Given the description of an element on the screen output the (x, y) to click on. 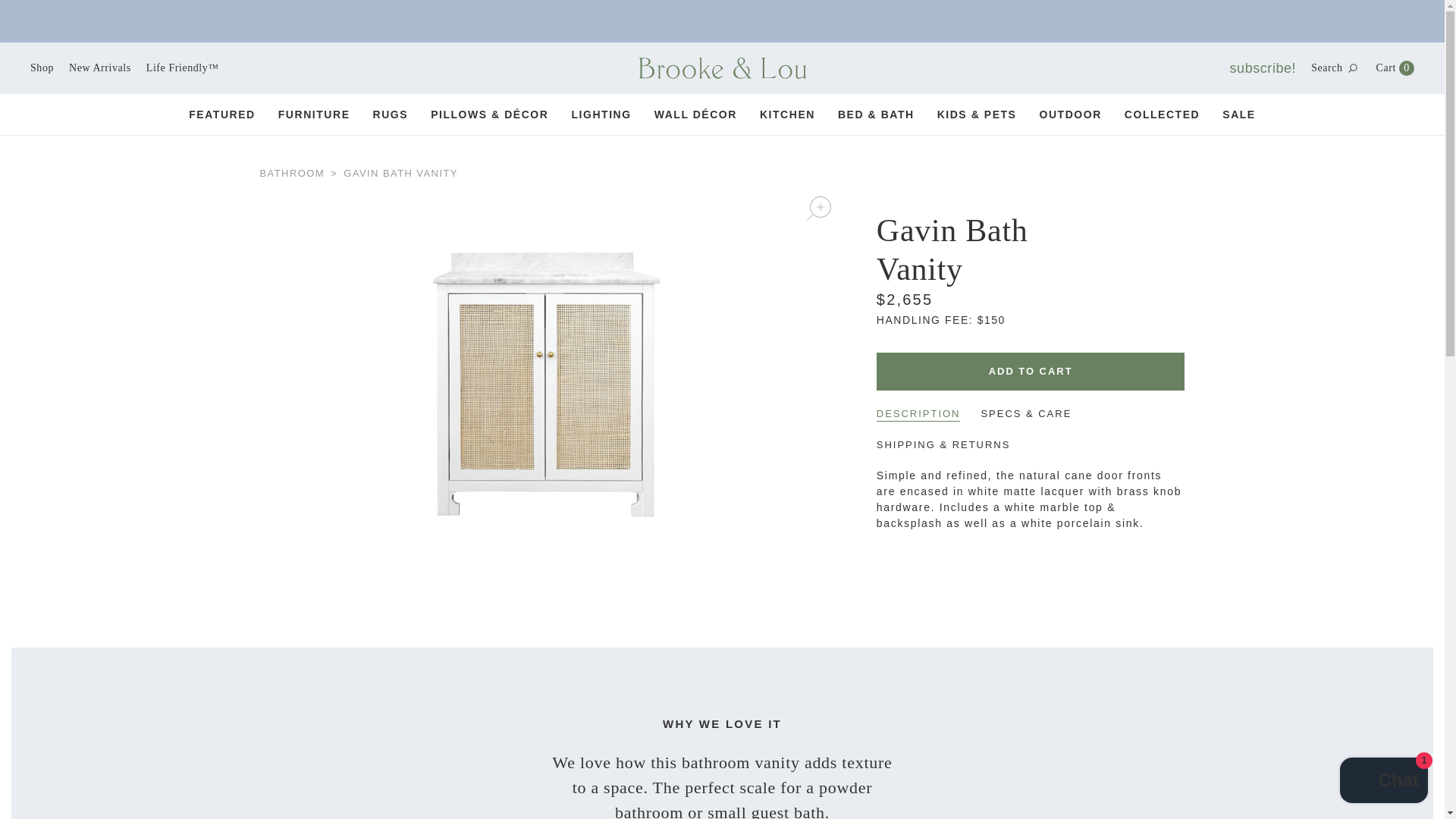
FEATURED (1394, 68)
Shopify online store chat (222, 114)
KITCHEN (1383, 781)
Search (787, 114)
Shop (1326, 68)
OUTDOOR (41, 67)
New Arrivals (1069, 114)
subscribe! (99, 67)
LIGHTING (1263, 68)
COLLECTED (600, 114)
FURNITURE (1161, 114)
